Given the description of an element on the screen output the (x, y) to click on. 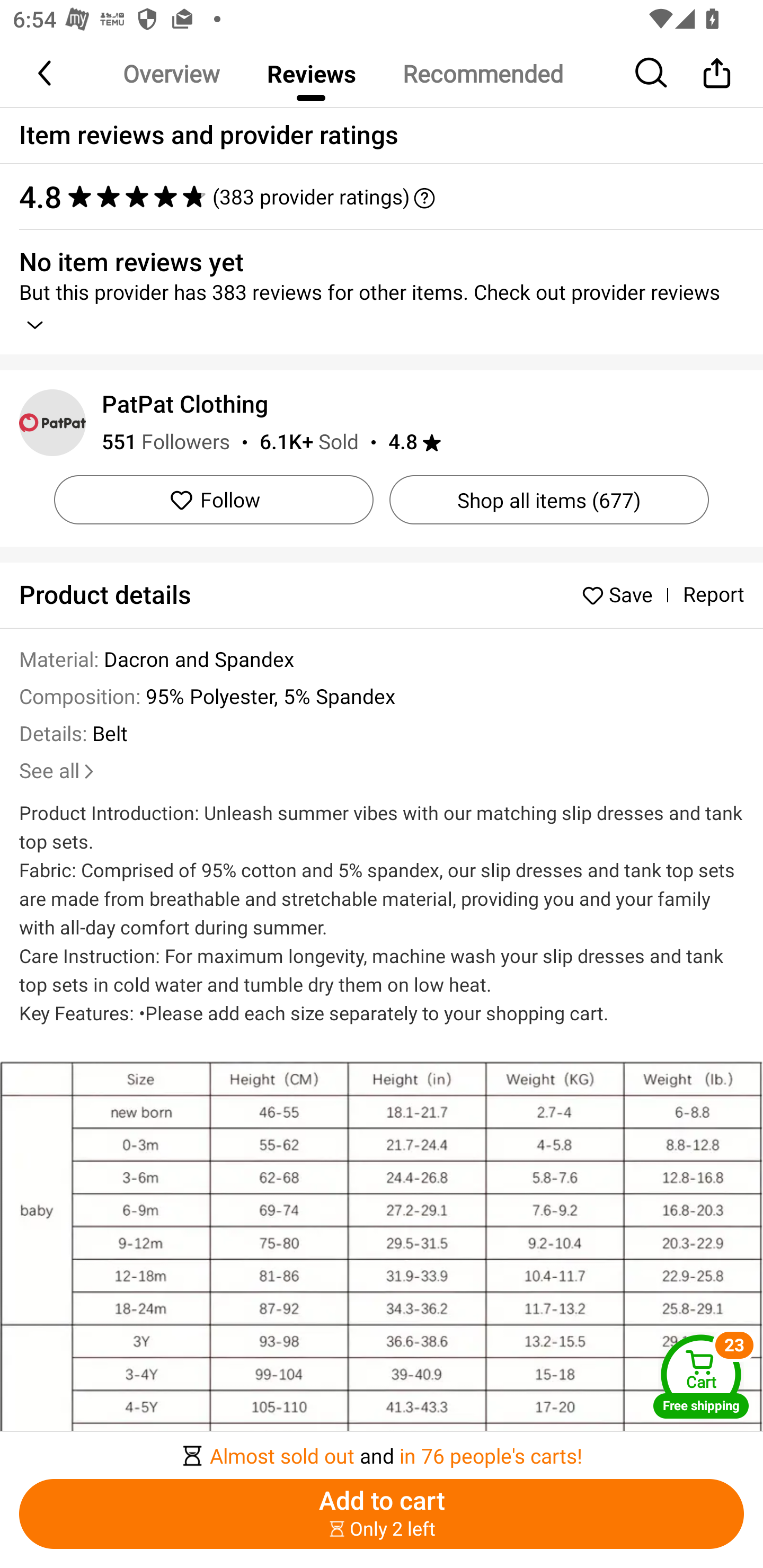
Overview (171, 72)
Reviews (311, 72)
Recommended (482, 72)
Back (46, 72)
Share (716, 72)
4.8 ‪(383 provider ratings) (371, 196)
  Follow (213, 499)
Shop all items (677) (548, 499)
Report (712, 594)
 Save (621, 594)
See all  (58, 771)
Cart Free shipping Cart (701, 1375)
￼￼Almost sold out and in 76 people's carts! (381, 1450)
Add to cart ￼￼Only 2 left (381, 1513)
